Given the description of an element on the screen output the (x, y) to click on. 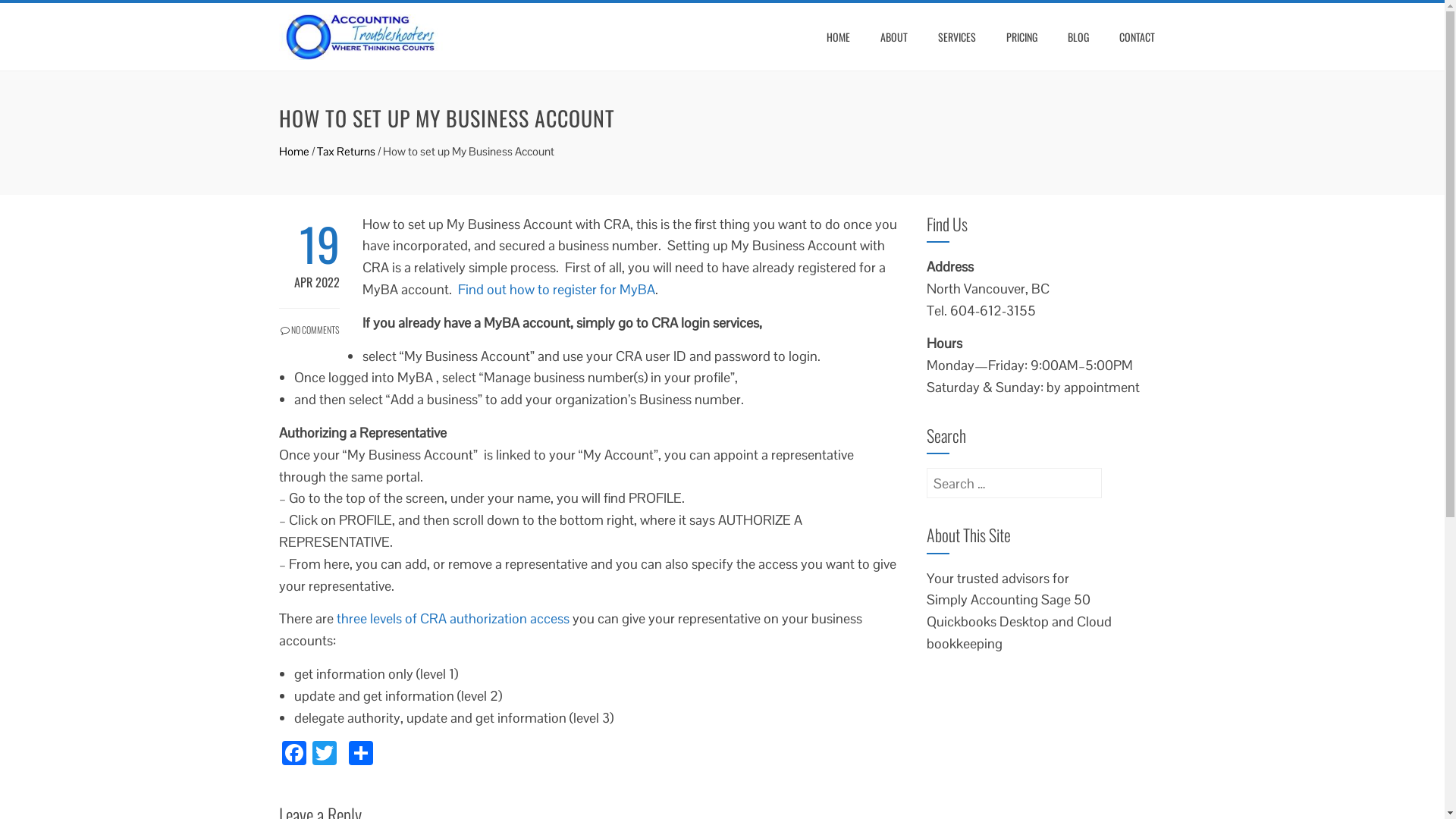
Find out how to register for MyBA Element type: text (556, 289)
SERVICES Element type: text (956, 36)
HOME Element type: text (837, 36)
BLOG Element type: text (1077, 36)
Facebook Element type: text (294, 754)
NO COMMENTS Element type: text (309, 321)
Tax Returns Element type: text (345, 151)
Search Element type: text (35, 15)
Share Element type: text (360, 754)
ABOUT Element type: text (894, 36)
Twitter Element type: text (324, 754)
PRICING Element type: text (1021, 36)
Home Element type: text (294, 151)
three levels of CRA authorization access Element type: text (452, 618)
CONTACT Element type: text (1136, 36)
